Given the description of an element on the screen output the (x, y) to click on. 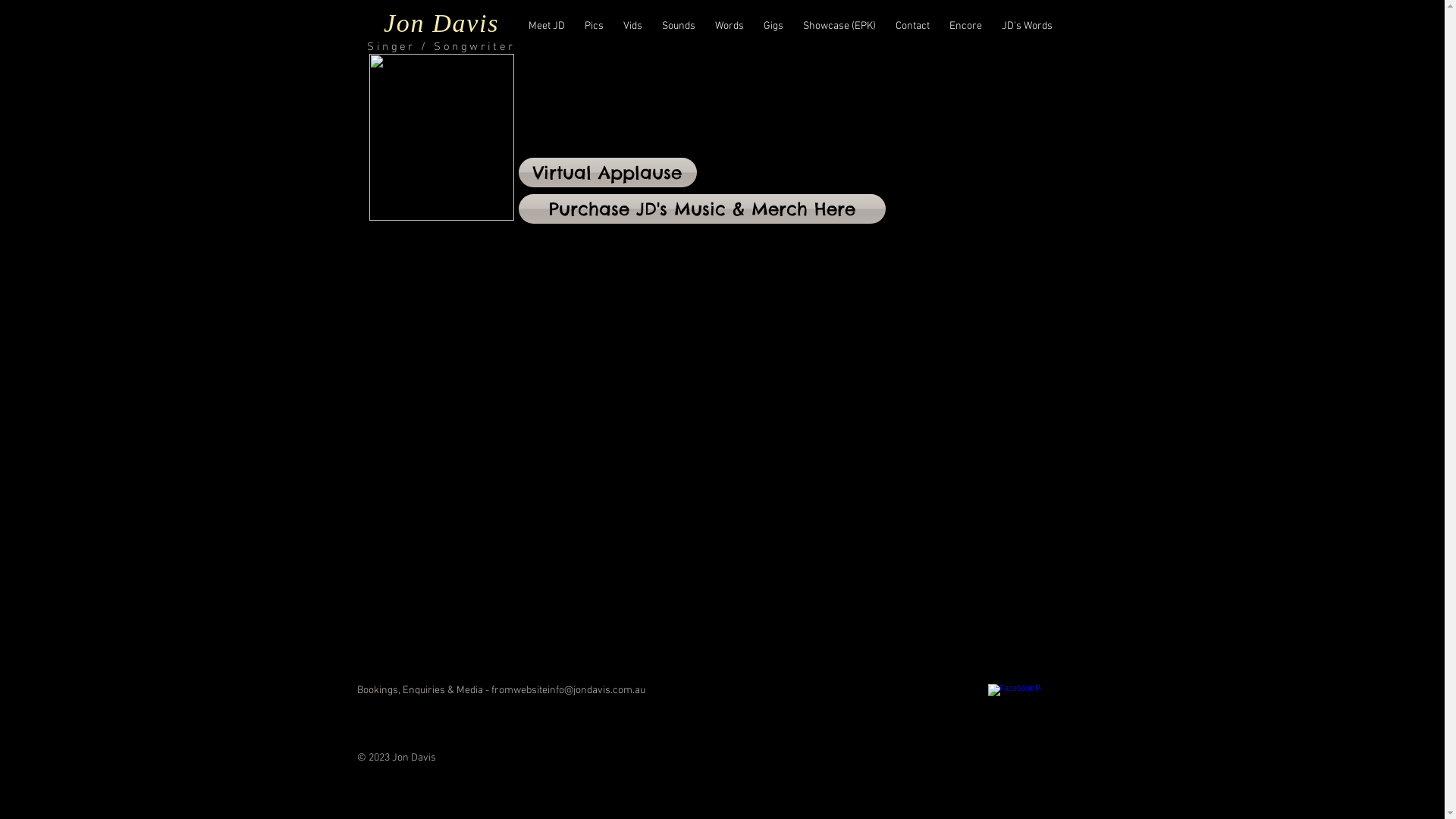
fromwebsiteinfo@jondavis.com.au Element type: text (568, 690)
Contact Element type: text (912, 25)
Meet JD Element type: text (546, 25)
Singer / Songwriter Element type: text (441, 46)
Showcase (EPK) Element type: text (839, 25)
Purchase JD's Music & Merch Here Element type: text (701, 208)
Jon Davis Element type: text (440, 23)
Virtual Applause Element type: text (607, 172)
JD's Words Element type: text (1026, 25)
Gigs Element type: text (773, 25)
